Given the description of an element on the screen output the (x, y) to click on. 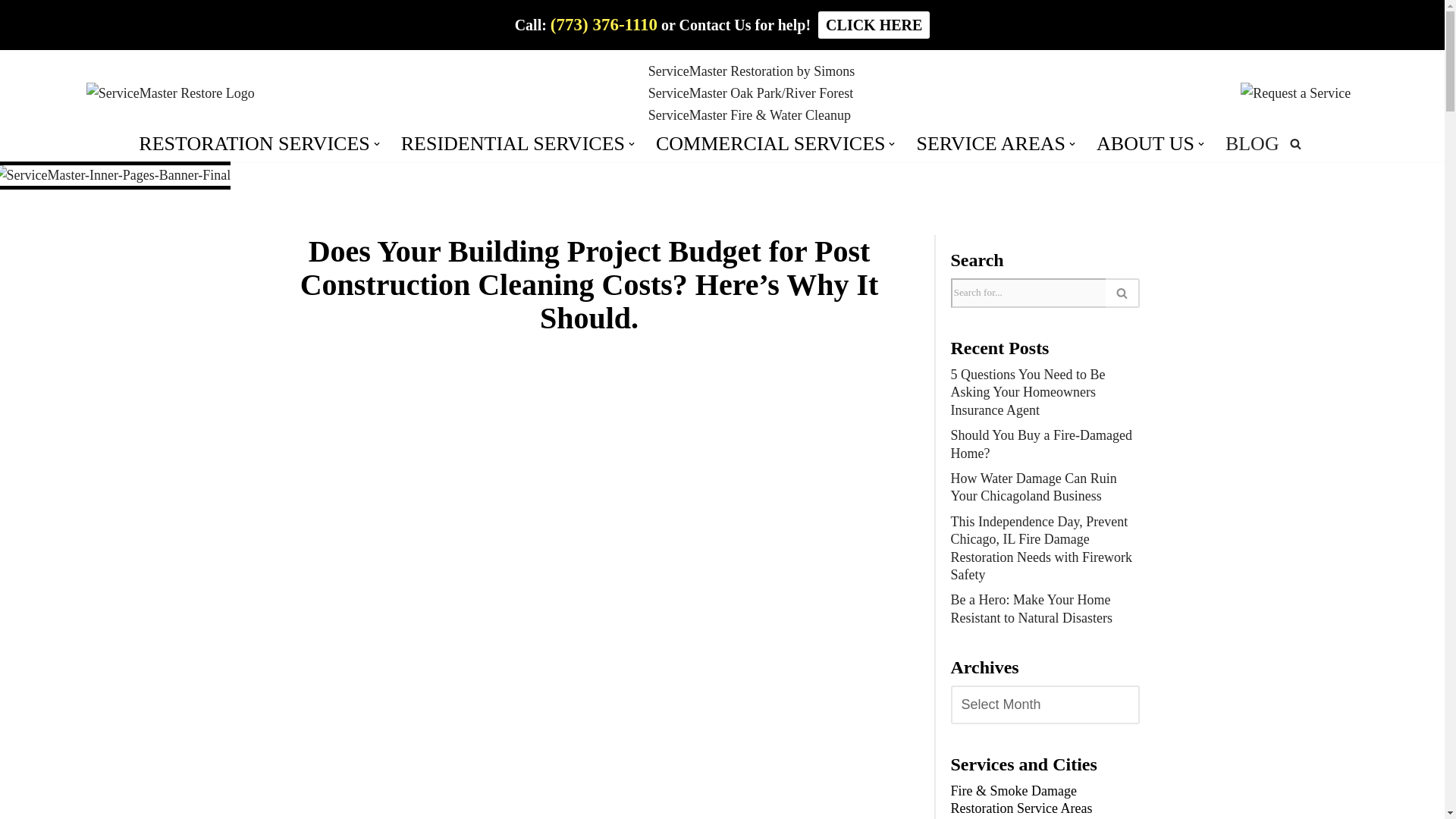
CLICK HERE (874, 24)
RESTORATION SERVICES (253, 143)
RESIDENTIAL SERVICES (512, 143)
Skip to content (11, 31)
COMMERCIAL SERVICES (770, 143)
